Given the description of an element on the screen output the (x, y) to click on. 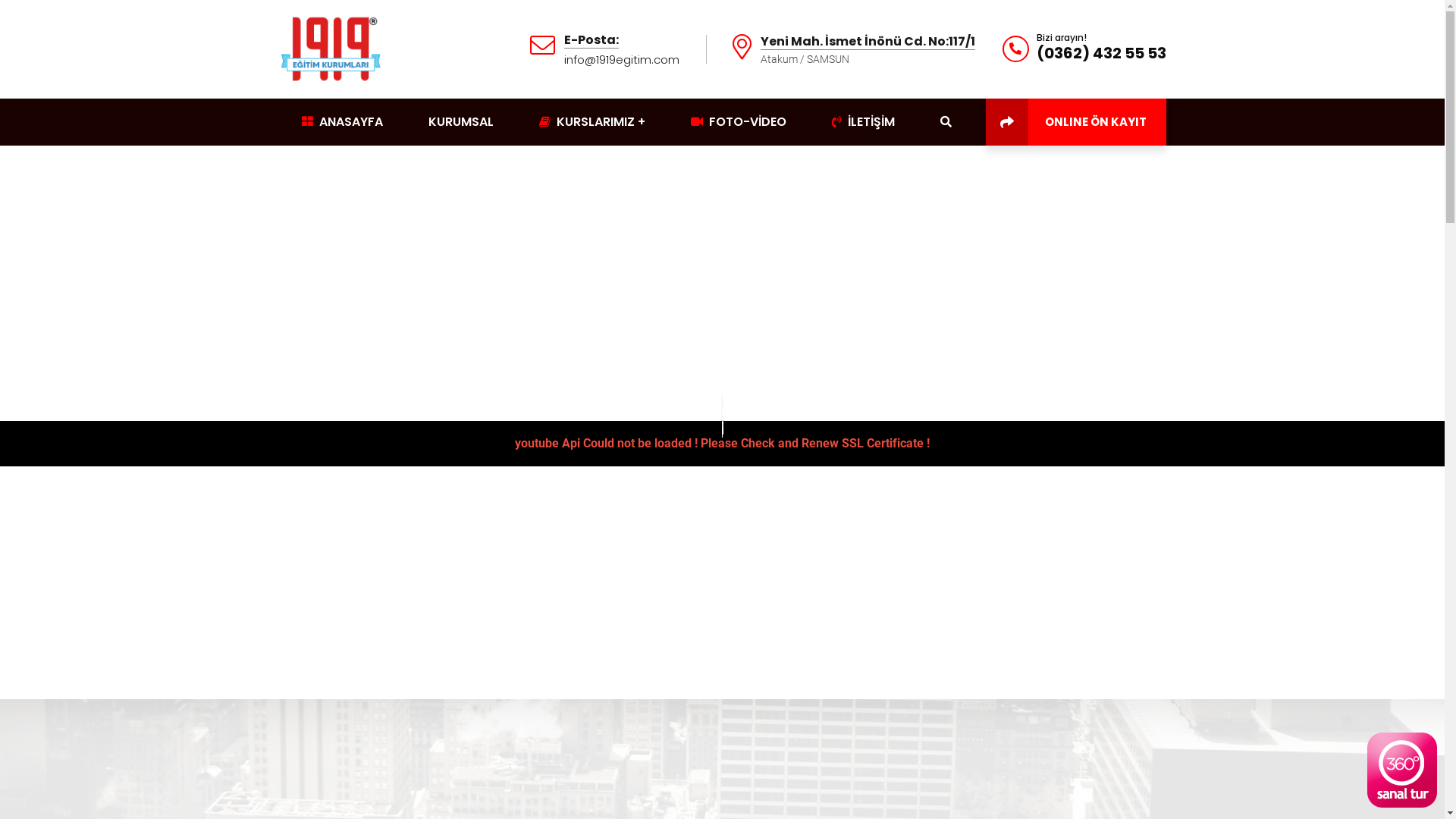
Subscribe Element type: text (682, 631)
KURSLARIMIZ Element type: text (591, 121)
ALES KURSU Element type: text (996, 663)
ANASAYFA Element type: text (342, 121)
LGS (6-7-8) KURSU Element type: text (1017, 572)
(0362) 432 55 53 Element type: text (1100, 52)
KURUMSAL Element type: text (459, 121)
DGS KURSU Element type: text (995, 595)
YKS (TYT-AYT-YDT) KURSU Element type: text (1038, 550)
info@1919egitim.com Element type: text (621, 59)
DEVAMINI OKU Element type: text (340, 683)
